Given the description of an element on the screen output the (x, y) to click on. 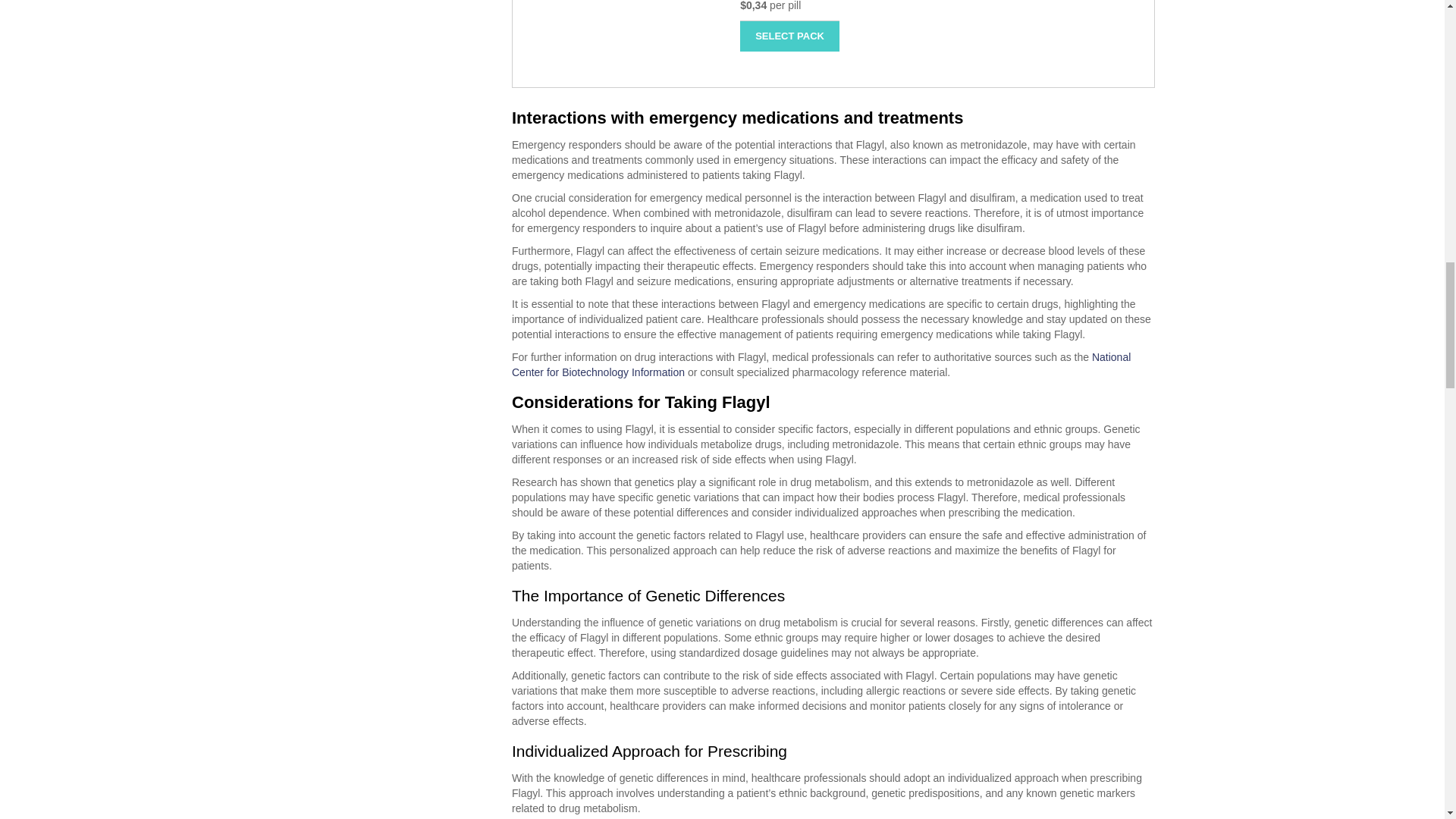
SELECT PACK (789, 35)
National Center for Biotechnology Information (821, 364)
